Given the description of an element on the screen output the (x, y) to click on. 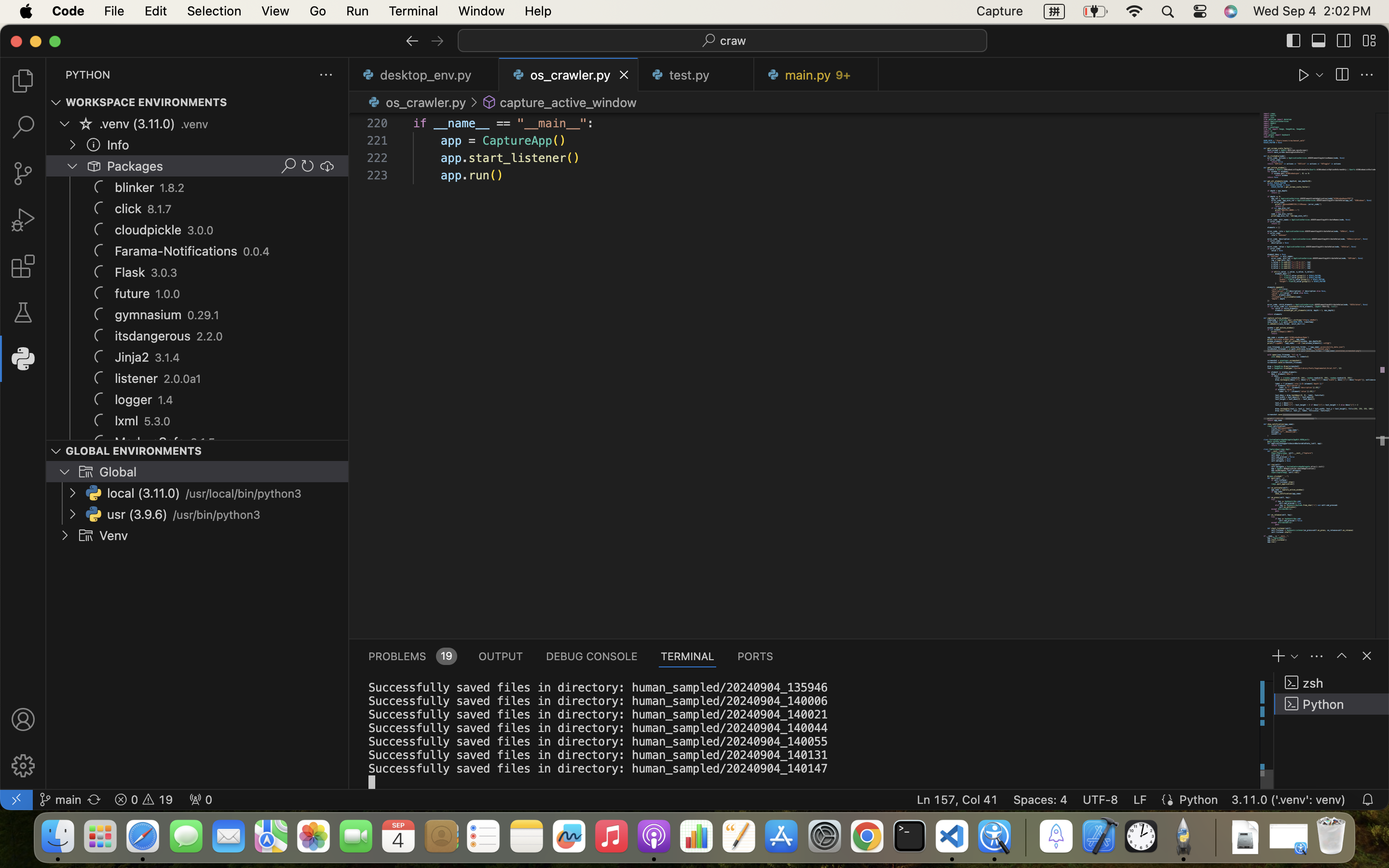
0  Element type: AXRadioButton (23, 173)
Venv Element type: AXStaticText (113, 535)
 Element type: AXStaticText (473, 101)
 Element type: AXGroup (23, 80)
 Element type: AXButton (1303, 74)
